Given the description of an element on the screen output the (x, y) to click on. 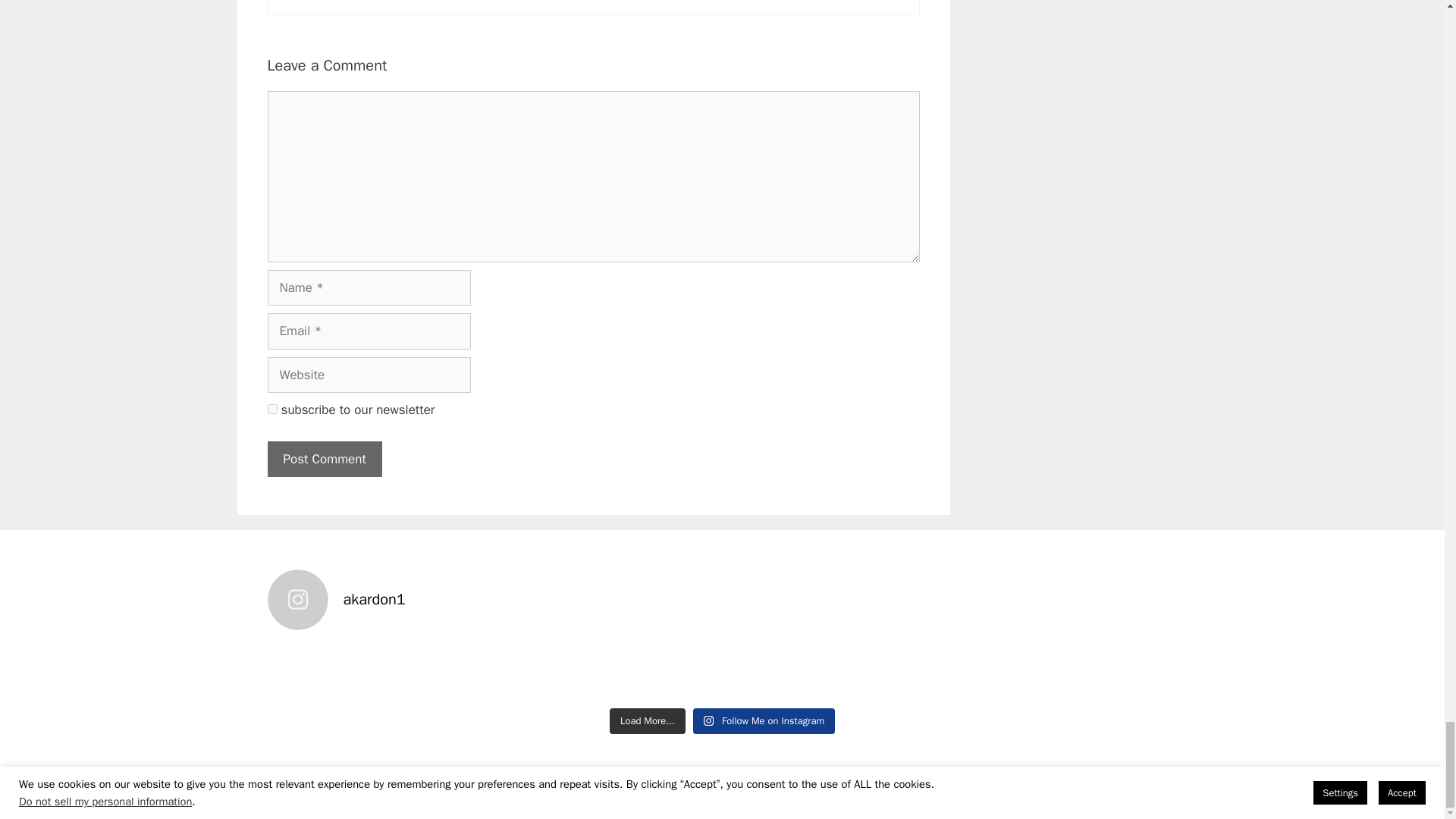
1 (271, 409)
Post Comment (323, 459)
